Given the description of an element on the screen output the (x, y) to click on. 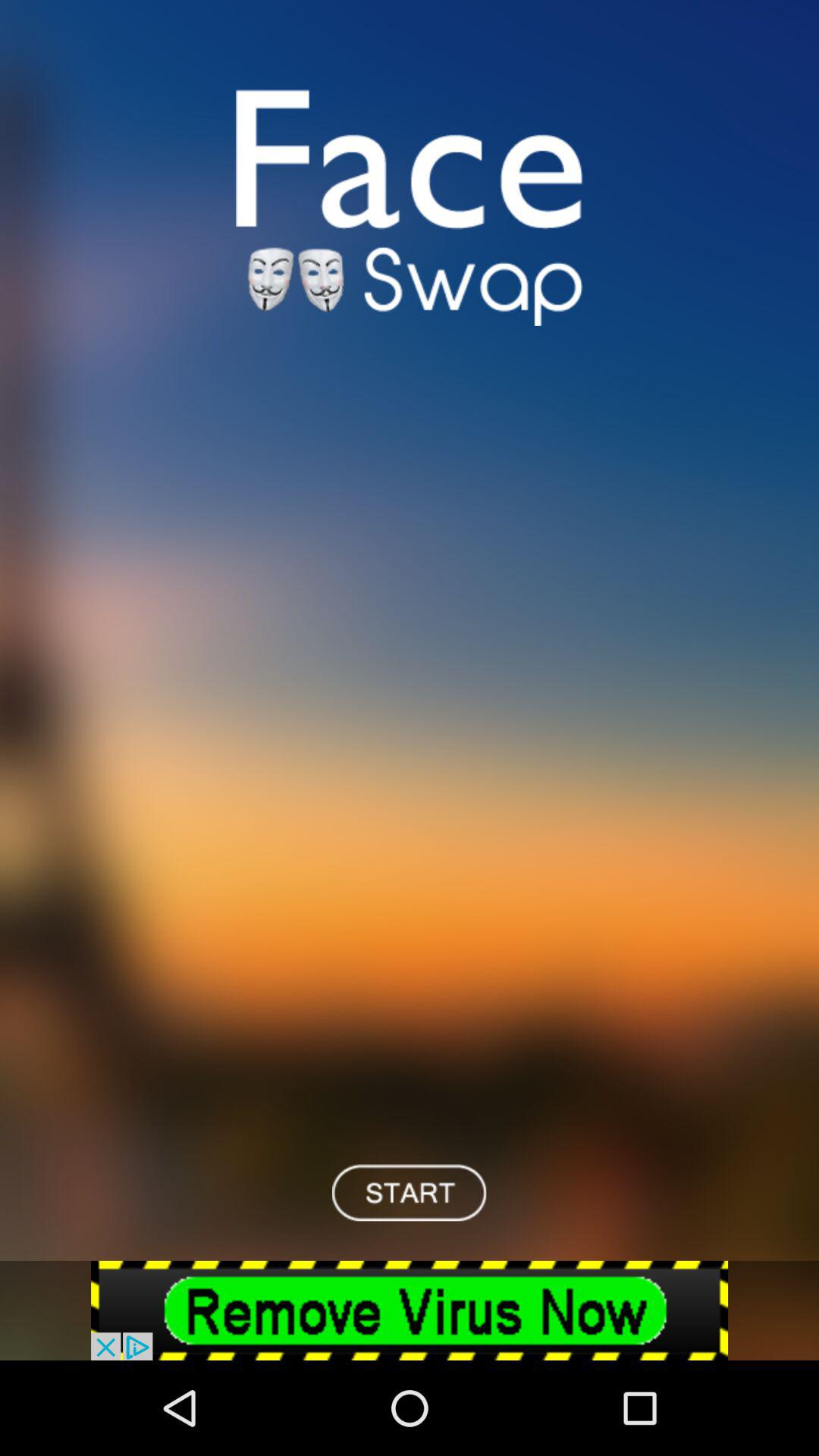
click to start (409, 1192)
